Given the description of an element on the screen output the (x, y) to click on. 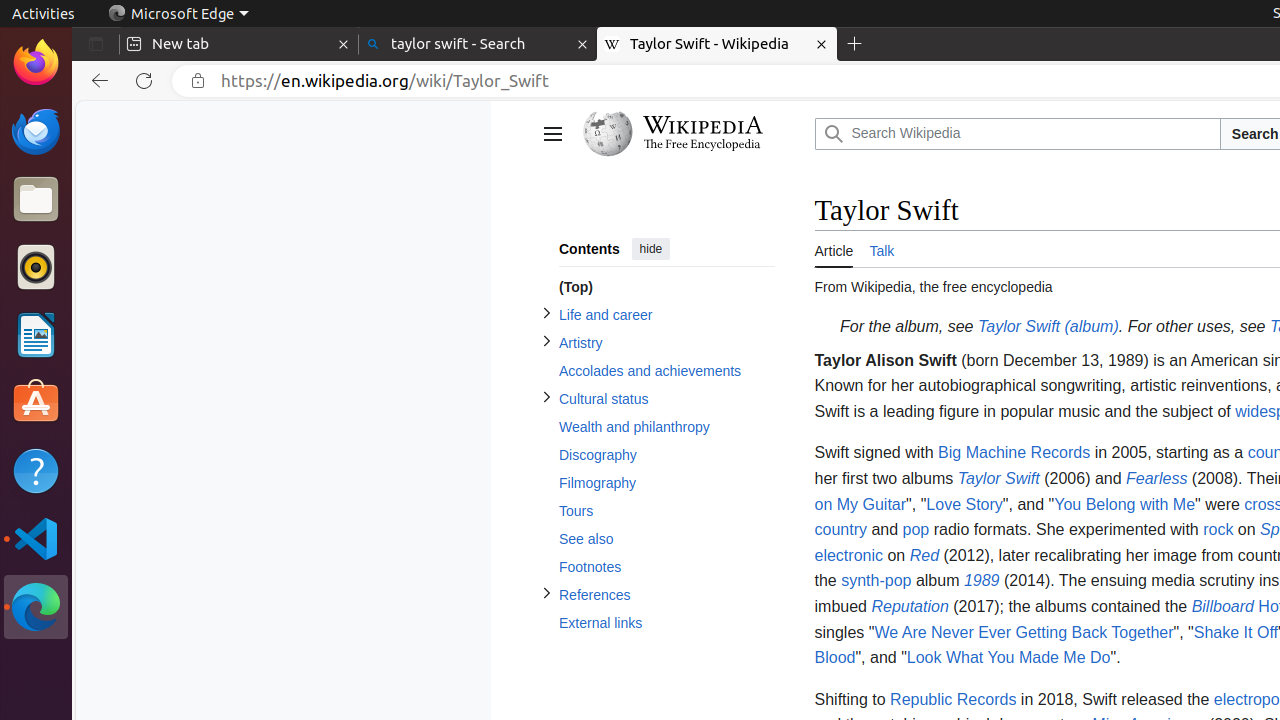
References Element type: link (666, 595)
Taylor Swift (album) Element type: link (1048, 327)
We Are Never Ever Getting Back Together Element type: link (1024, 632)
Wikipedia The Free Encyclopedia Element type: link (693, 133)
electronic Element type: link (848, 555)
